Given the description of an element on the screen output the (x, y) to click on. 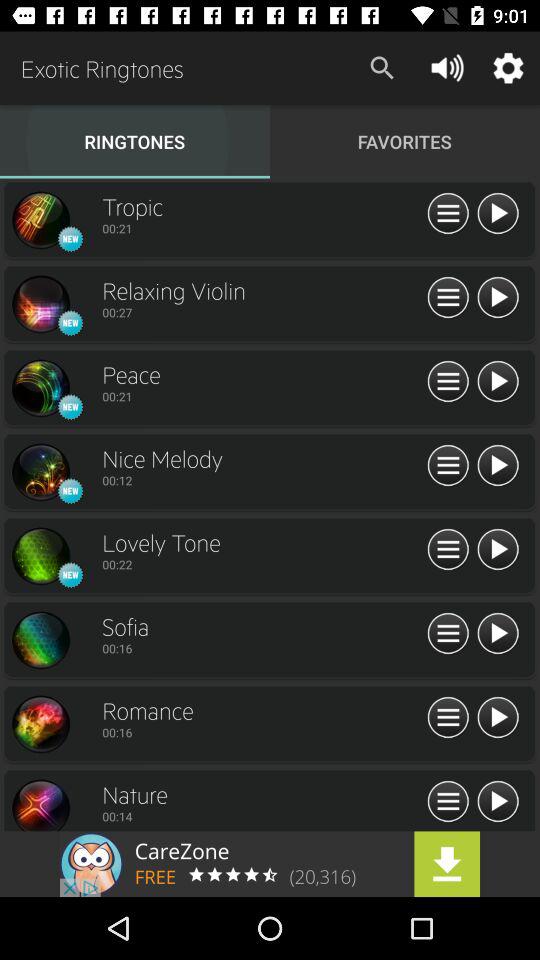
view options (447, 633)
